Given the description of an element on the screen output the (x, y) to click on. 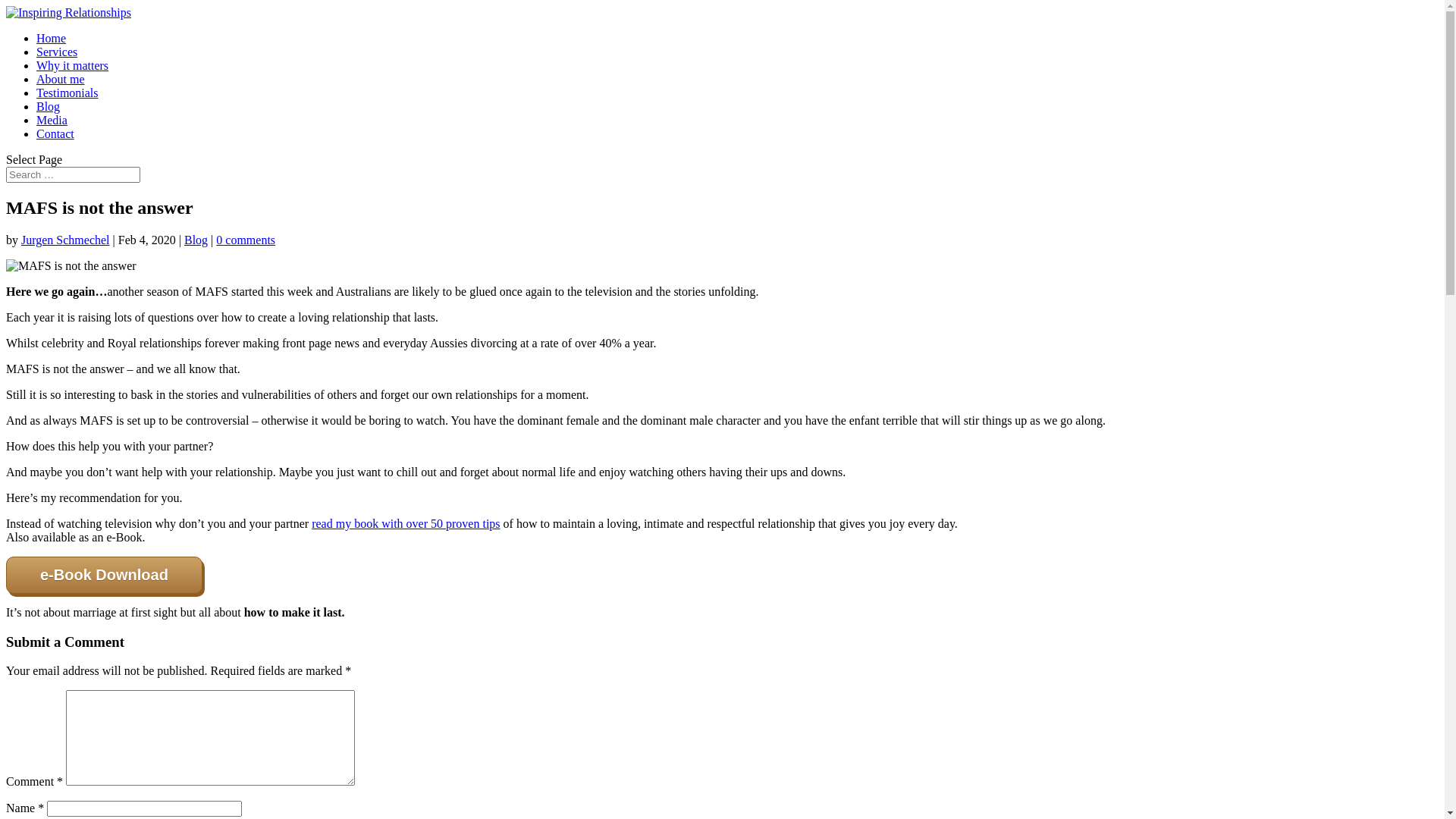
e-Book Download Element type: text (104, 574)
Testimonials Element type: text (67, 92)
Search for: Element type: hover (73, 174)
Services Element type: text (56, 51)
Home Element type: text (50, 37)
Blog Element type: text (47, 106)
Media Element type: text (51, 119)
0 comments Element type: text (245, 239)
Contact Element type: text (55, 133)
Blog Element type: text (195, 239)
read my book with over 50 proven tips Element type: text (405, 523)
Why it matters Element type: text (72, 65)
Jurgen Schmechel Element type: text (65, 239)
About me Element type: text (60, 78)
